Given the description of an element on the screen output the (x, y) to click on. 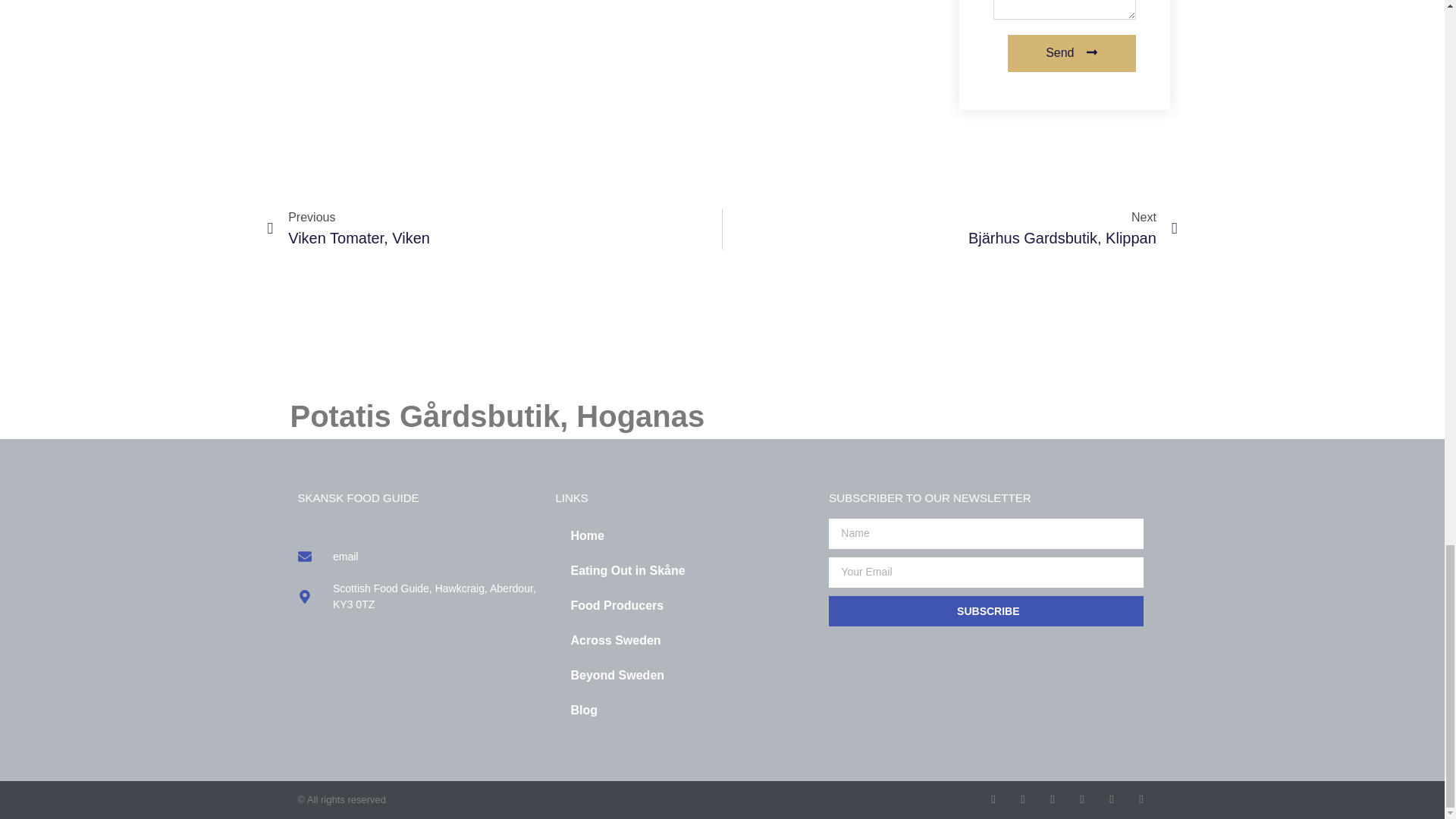
Send (1071, 53)
Across Sweden (683, 640)
Home (683, 535)
Blog (494, 228)
Food Producers (683, 710)
email (683, 605)
Beyond Sweden (418, 556)
